Given the description of an element on the screen output the (x, y) to click on. 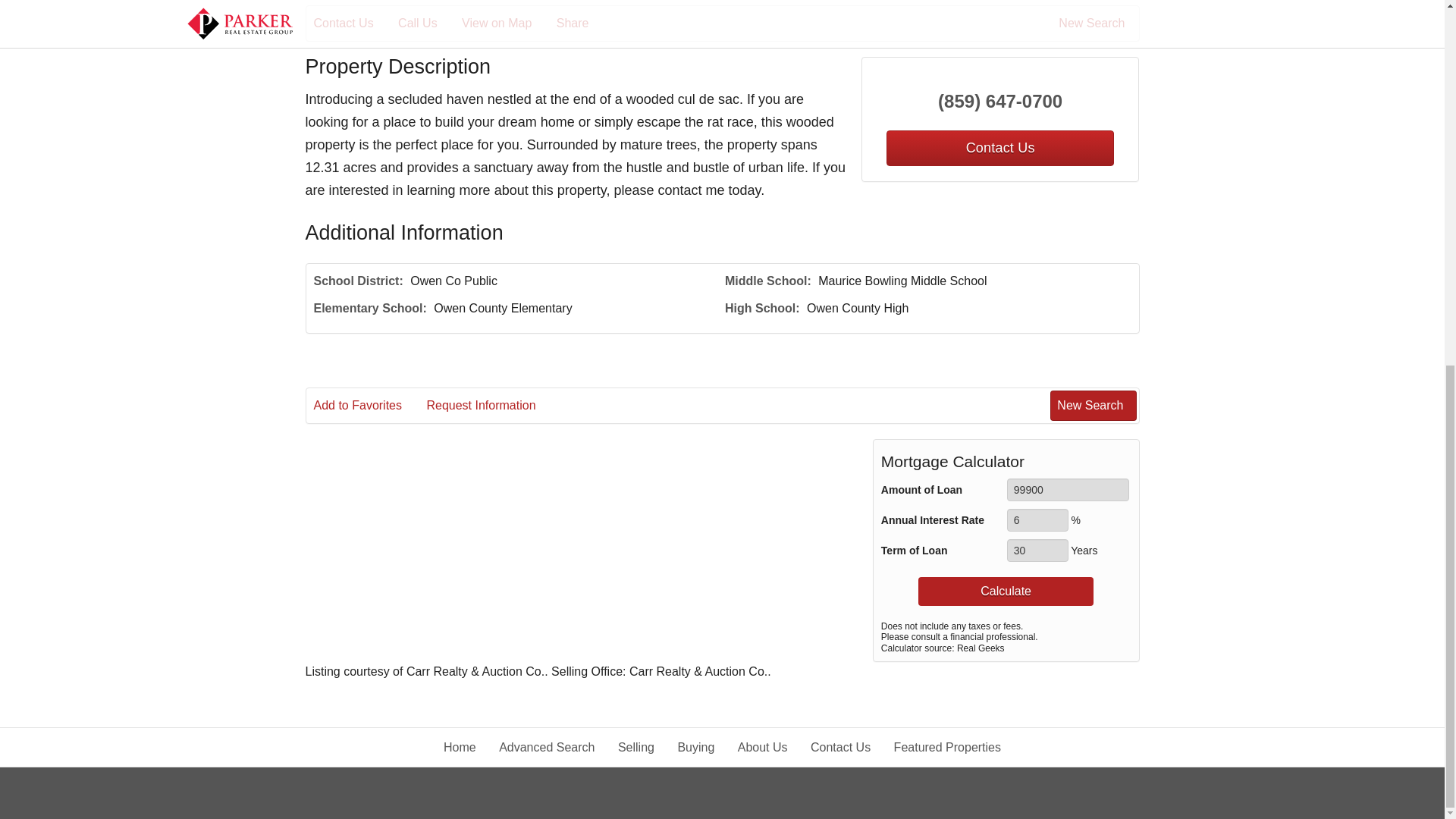
6 (1037, 519)
Share (583, 23)
New Search (1094, 23)
Contact Us (999, 148)
Contact Us (354, 23)
Call Us (427, 23)
View on Map (507, 23)
99900 (1068, 489)
30 (1037, 549)
